Given the description of an element on the screen output the (x, y) to click on. 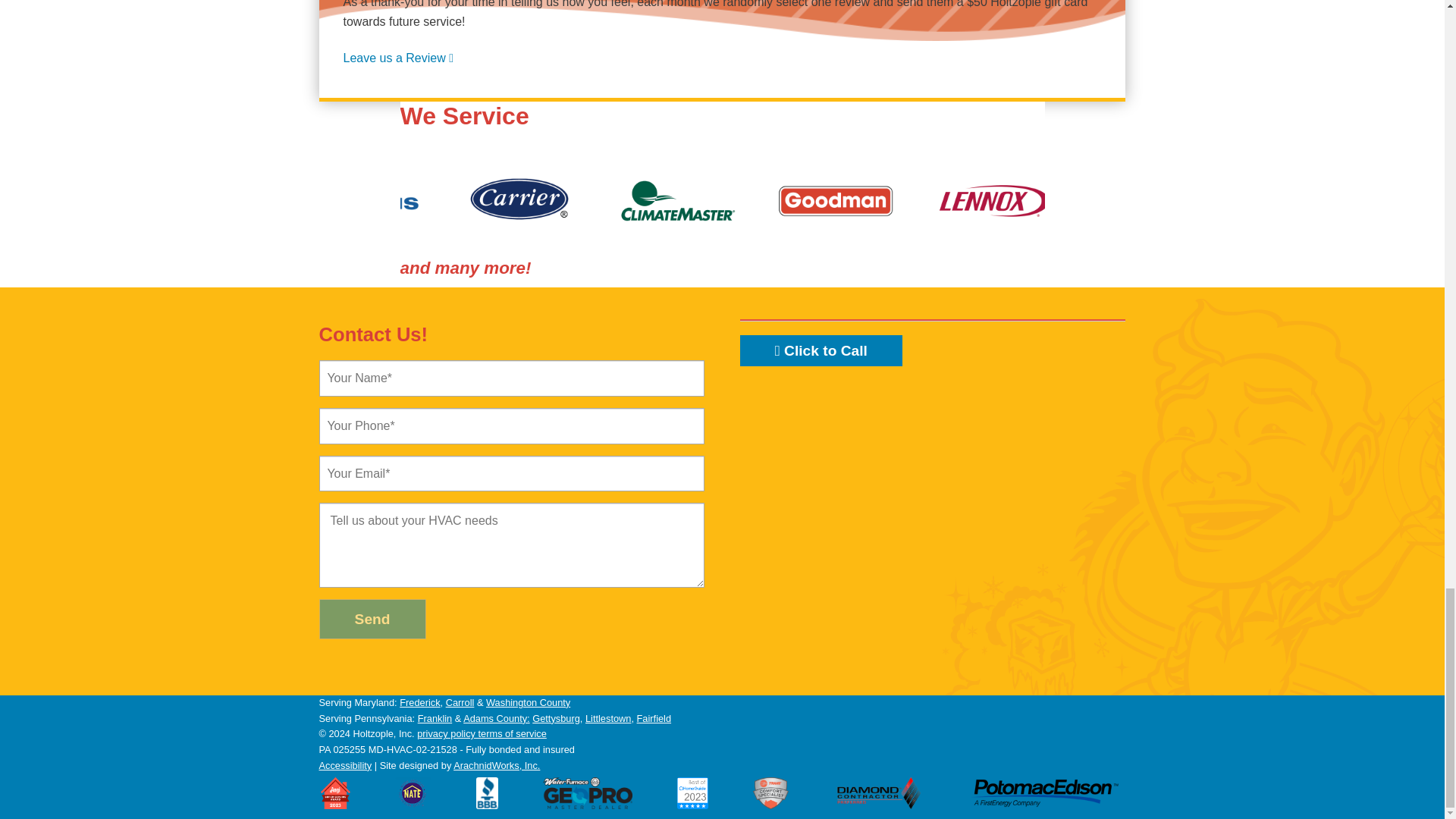
Send (372, 618)
